Given the description of an element on the screen output the (x, y) to click on. 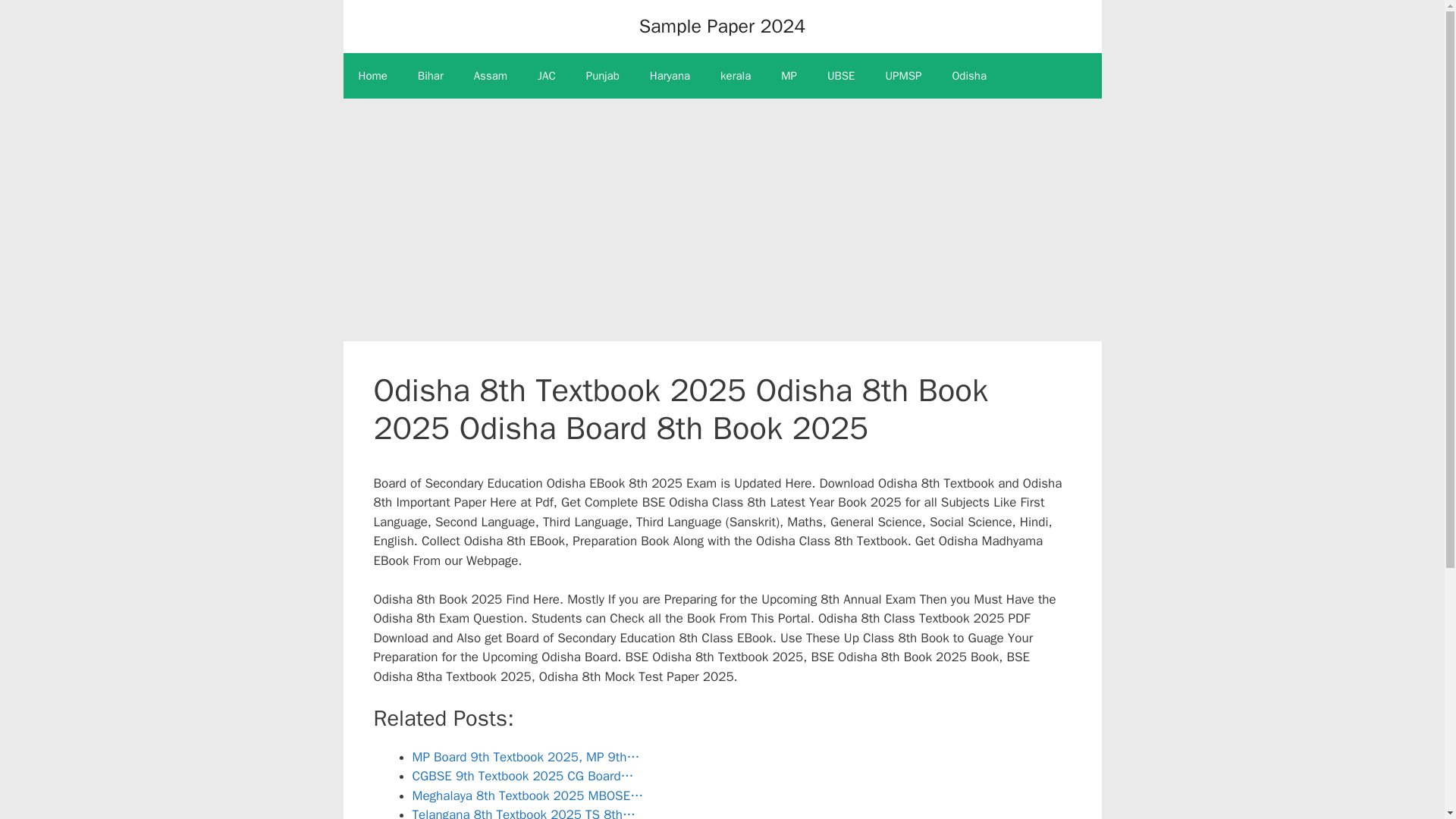
Haryana (669, 75)
Sample Paper 2024 (722, 25)
Odisha (968, 75)
UPMSP (903, 75)
kerala (734, 75)
MP (788, 75)
UBSE (841, 75)
JAC (546, 75)
Punjab (602, 75)
Bihar (430, 75)
Assam (490, 75)
Home (371, 75)
